Given the description of an element on the screen output the (x, y) to click on. 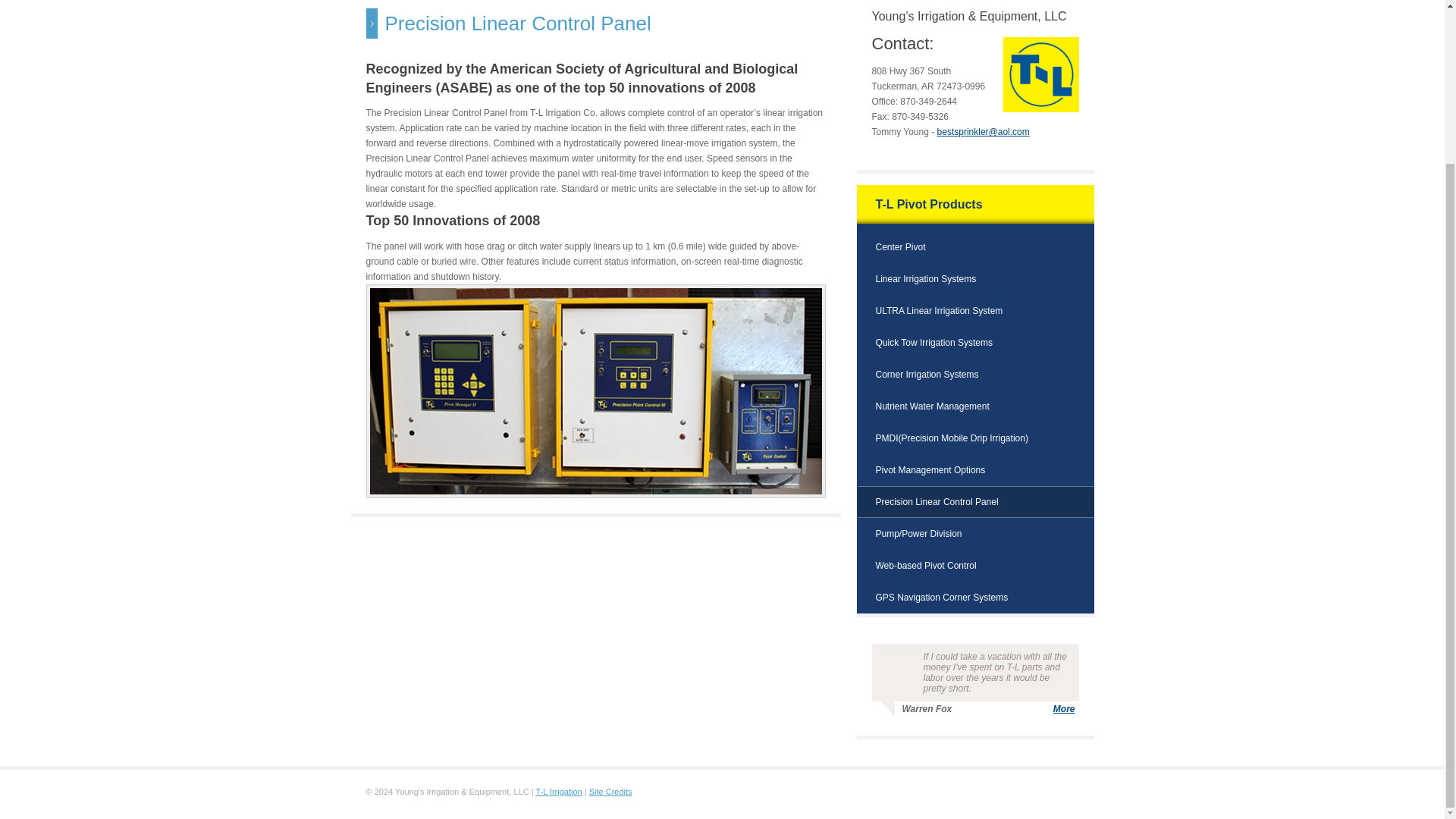
T-L Pivot Products (928, 207)
Linear Irrigation Systems (925, 282)
ULTRA Linear Irrigation System (939, 314)
Linear Irrigation Systems (925, 282)
Nutrient Water Management (931, 409)
Quick Tow Irrigation Systems (933, 346)
Corner Irrigation Systems (926, 378)
Quick Tow Irrigation Systems (933, 346)
T-L Pivot Products (928, 207)
Precision Linear Control Panel (936, 505)
